Given the description of an element on the screen output the (x, y) to click on. 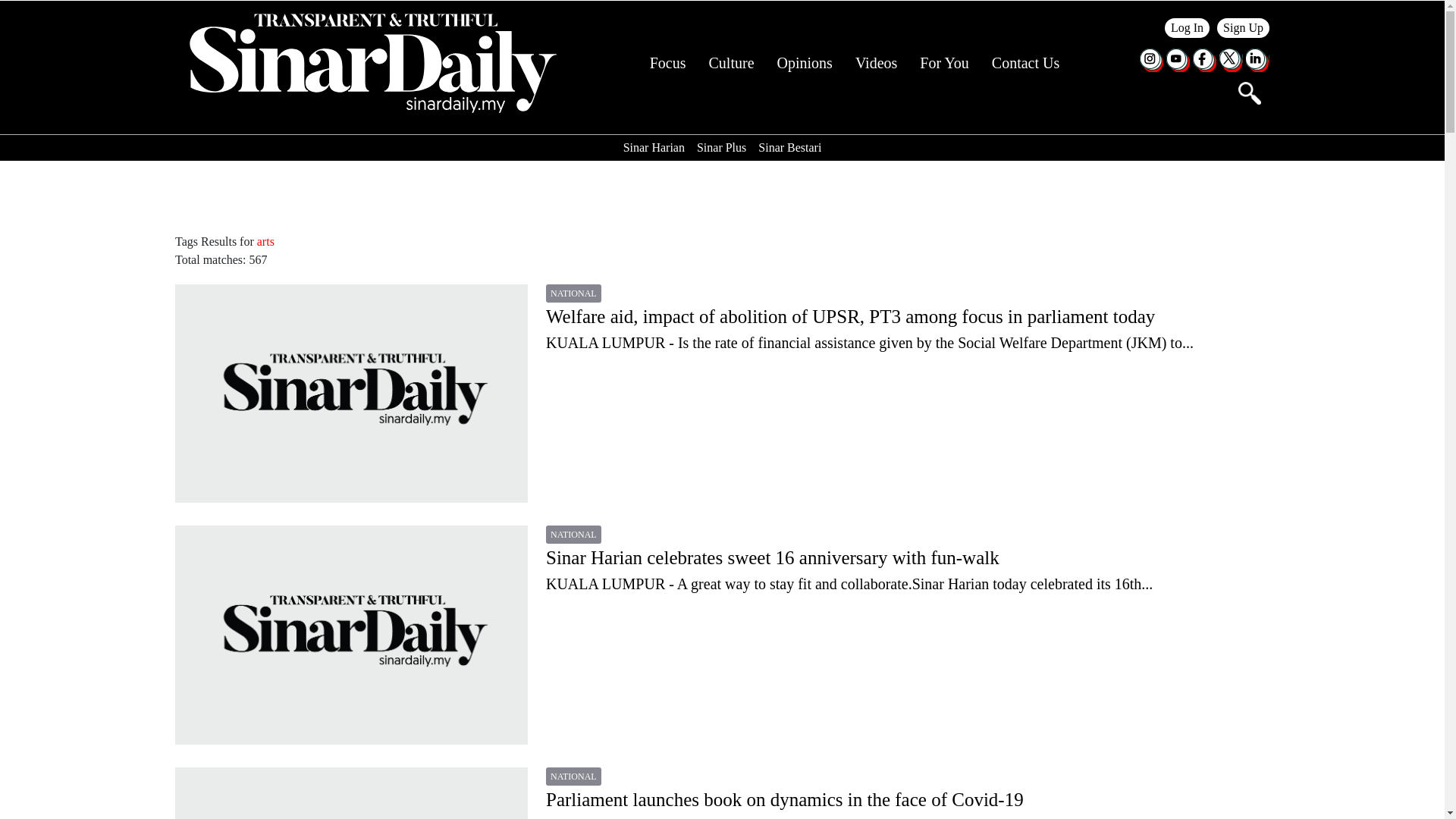
signup (1243, 27)
Opinions (804, 63)
Sinar Harian (653, 147)
National (573, 293)
Culture (731, 63)
Sinar Harian celebrates sweet 16 anniversary with fun-walk (907, 583)
Sinar Harian celebrates sweet 16 anniversary with fun-walk (907, 557)
Parliament launches book on dynamics in the face of Covid-19 (350, 793)
National (573, 776)
